Given the description of an element on the screen output the (x, y) to click on. 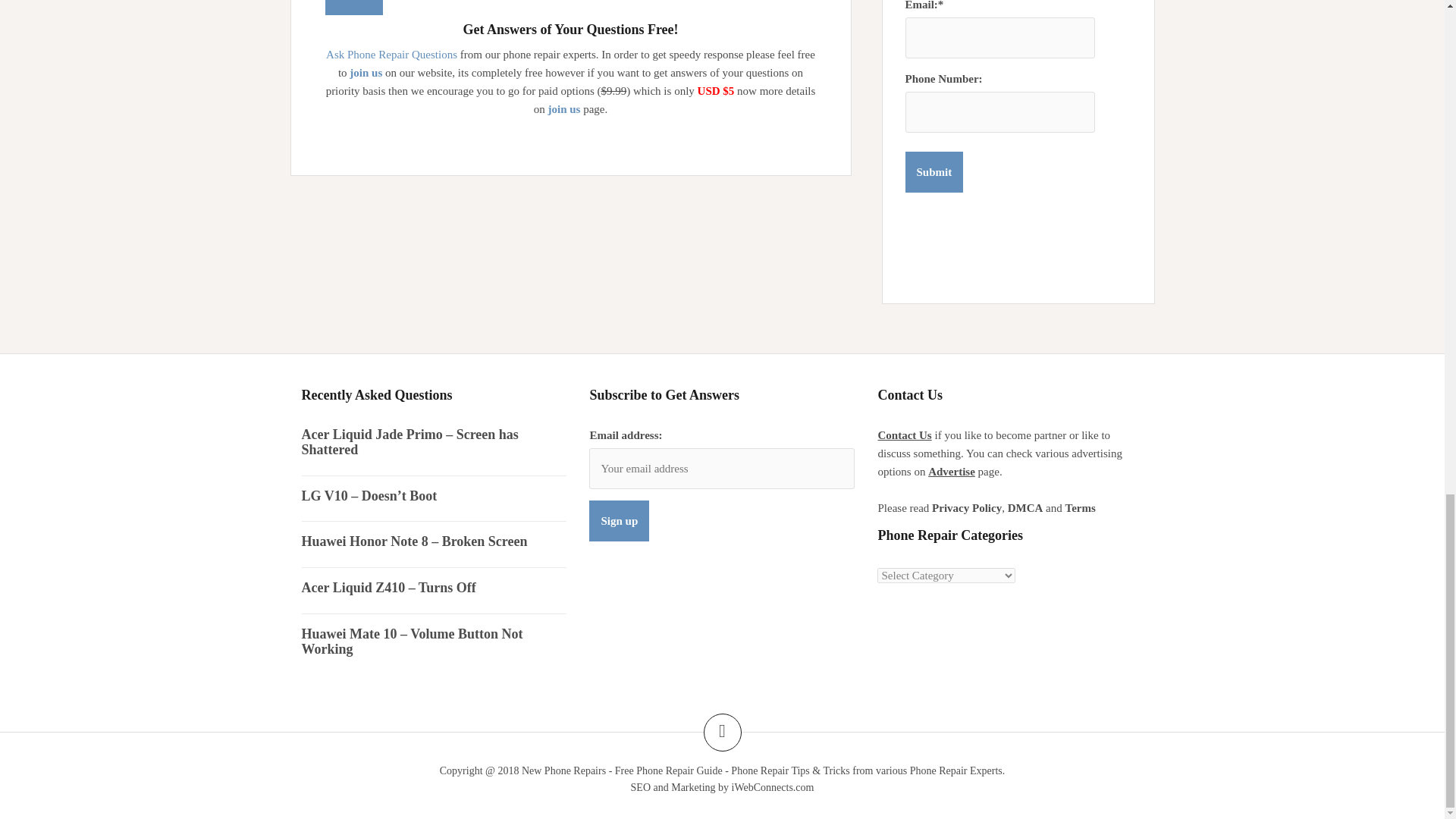
Submit (934, 171)
Sign up (619, 520)
join us (563, 109)
join us (365, 72)
Submit (353, 7)
Ask Phone Repair Questions (391, 54)
Submit (353, 7)
